Given the description of an element on the screen output the (x, y) to click on. 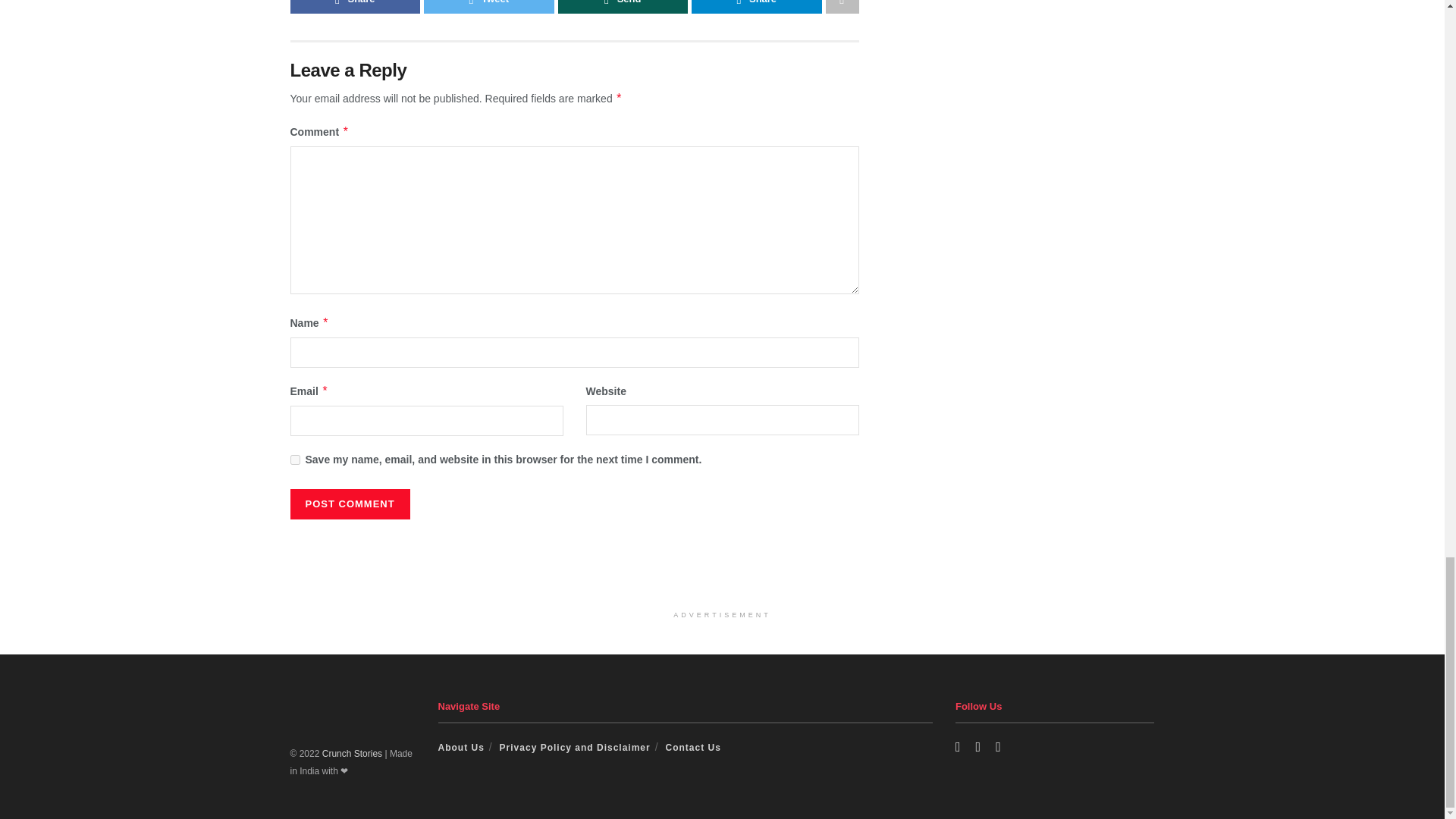
Crunch Stories (351, 753)
yes (294, 460)
Post Comment (349, 503)
